Given the description of an element on the screen output the (x, y) to click on. 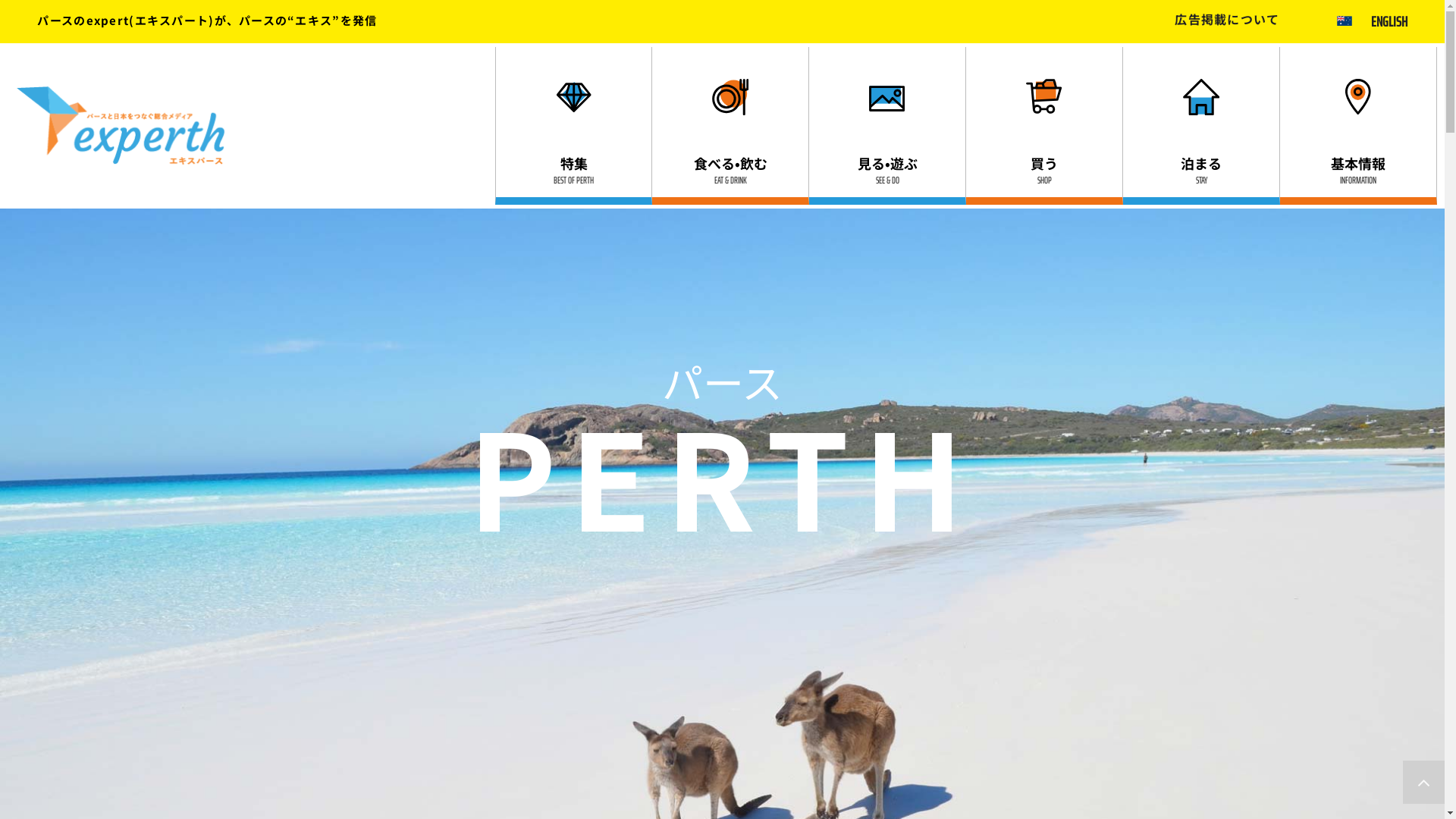
ENGLISH Element type: text (1389, 20)
